Given the description of an element on the screen output the (x, y) to click on. 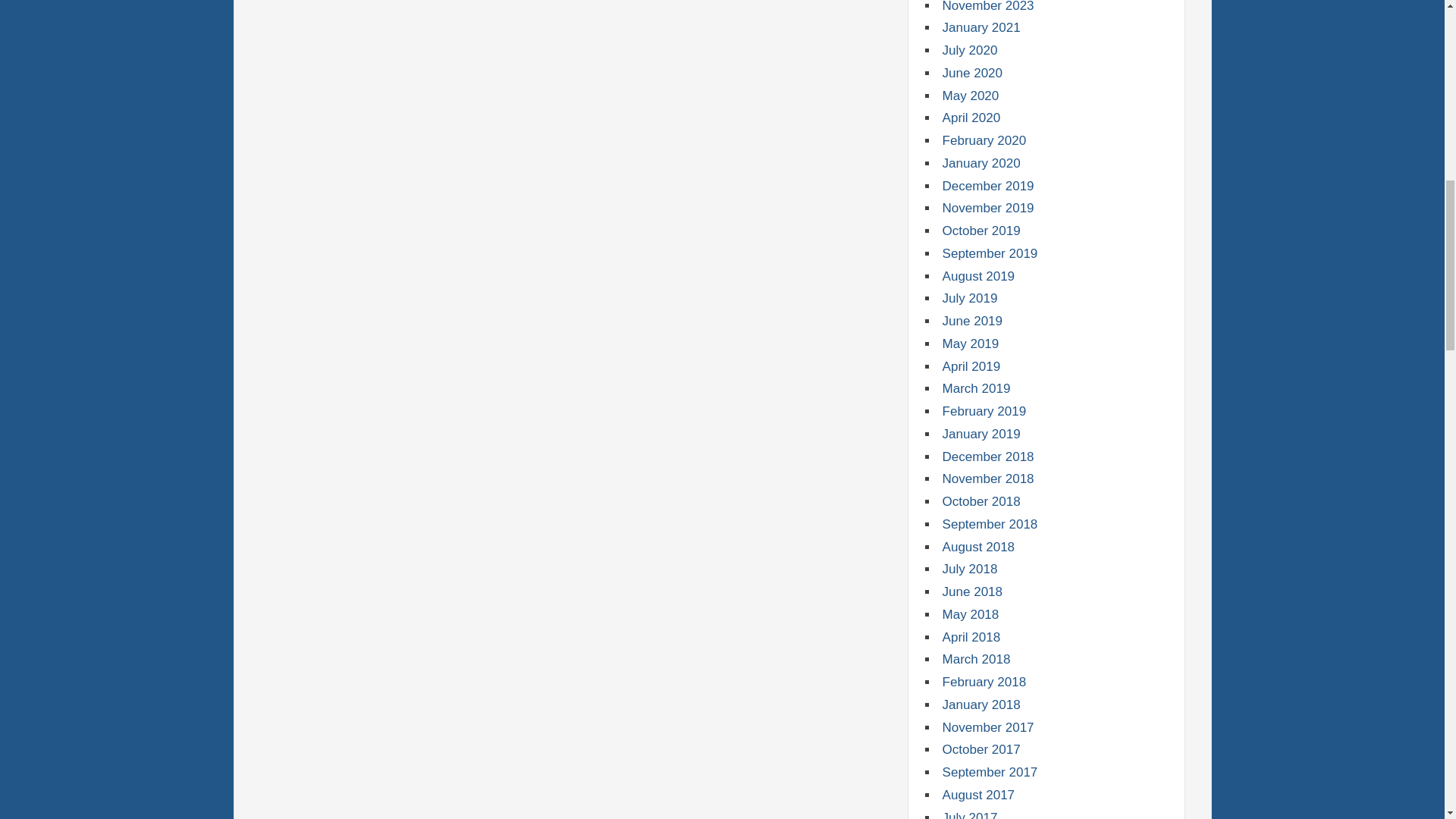
March 2019 (976, 388)
February 2020 (984, 140)
April 2020 (971, 117)
May 2020 (970, 95)
September 2019 (990, 253)
December 2018 (987, 456)
December 2019 (987, 186)
July 2020 (969, 50)
February 2019 (984, 411)
June 2020 (972, 73)
June 2019 (972, 320)
October 2019 (981, 230)
April 2019 (971, 366)
August 2018 (978, 546)
November 2019 (987, 207)
